Given the description of an element on the screen output the (x, y) to click on. 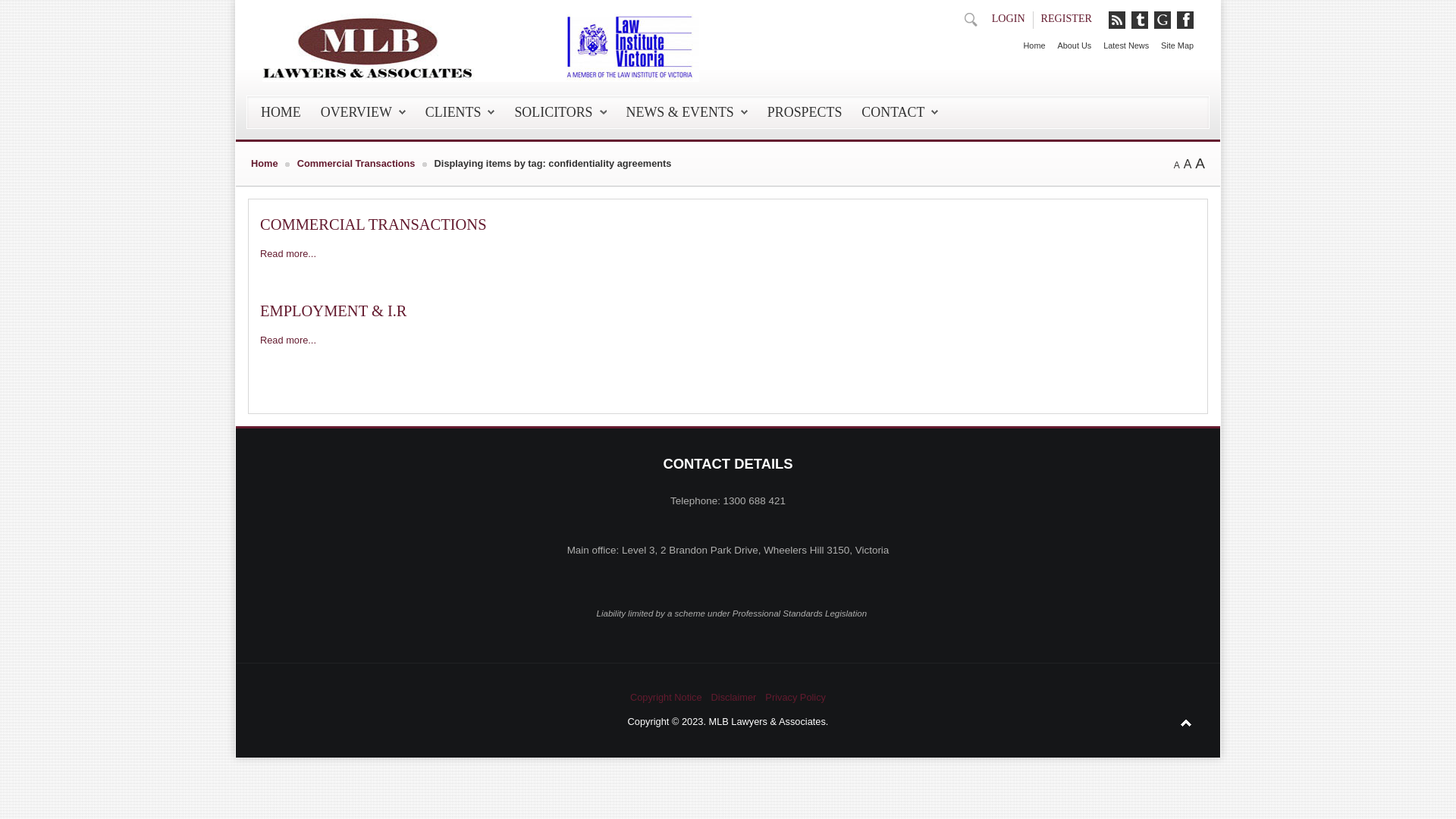
Copyright Notice Element type: text (666, 696)
Commercial Transactions Element type: text (356, 163)
NEWS & EVENTS Element type: text (686, 111)
A Element type: text (1176, 165)
CLIENTS Element type: text (460, 111)
EMPLOYMENT & I.R Element type: text (333, 310)
Site Map Element type: text (1170, 40)
Home Element type: text (264, 163)
Latest News Element type: text (1119, 40)
PROSPECTS Element type: text (804, 111)
Privacy Policy Element type: text (795, 696)
A Element type: text (1199, 163)
Read more... Element type: text (288, 253)
Home Element type: text (1027, 40)
OVERVIEW Element type: text (362, 111)
A Element type: text (1187, 163)
Read more... Element type: text (288, 339)
CONTACT Element type: text (899, 111)
HOME Element type: text (280, 111)
SOLICITORS Element type: text (559, 111)
Disclaimer Element type: text (733, 696)
COMMERCIAL TRANSACTIONS Element type: text (373, 224)
About Us Element type: text (1067, 40)
